Given the description of an element on the screen output the (x, y) to click on. 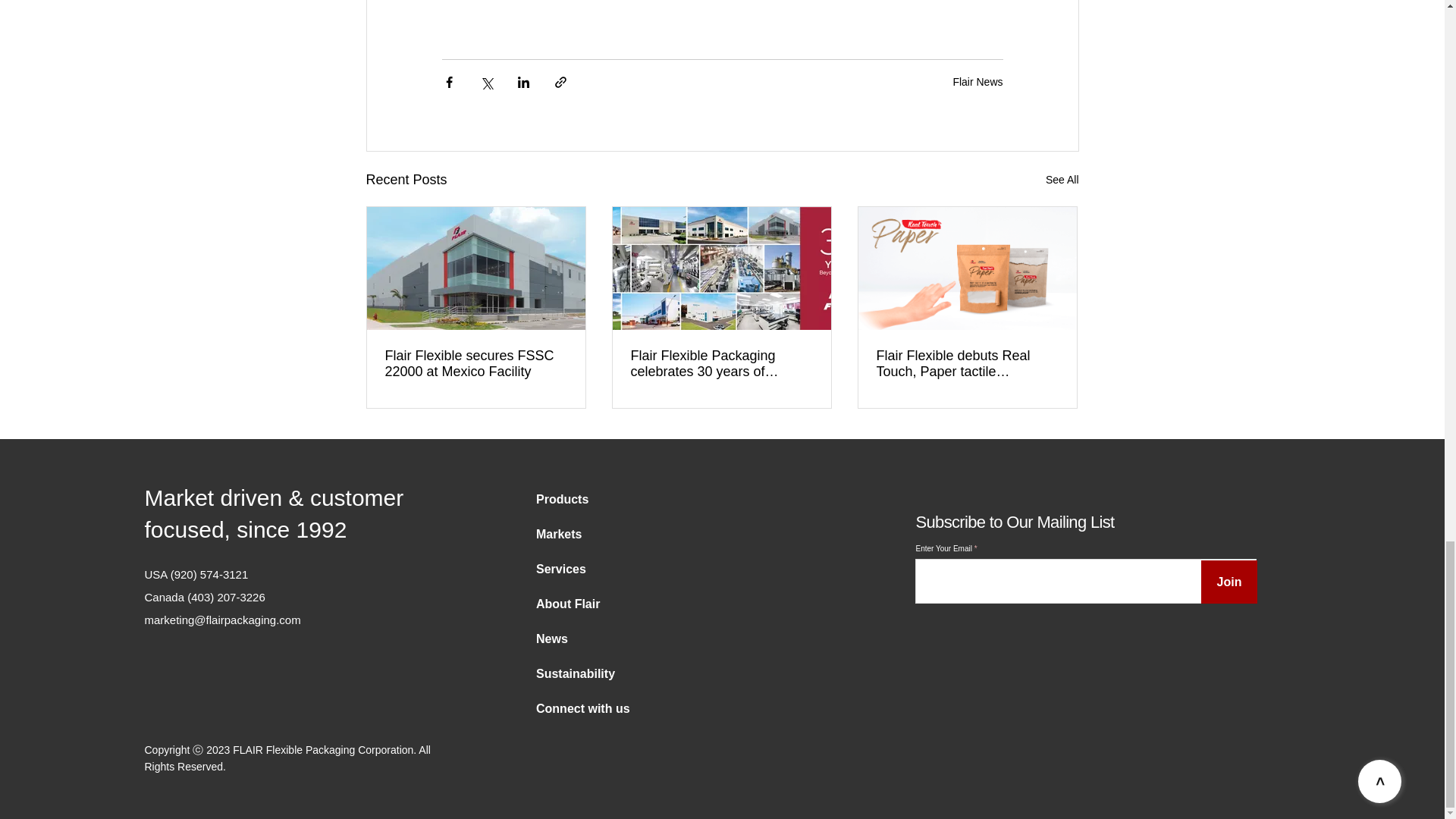
See All (1061, 179)
Products (577, 499)
Services (577, 569)
News (577, 638)
Sustainability (577, 673)
Flair News (977, 81)
Markets (577, 534)
Connect with us (577, 708)
